Given the description of an element on the screen output the (x, y) to click on. 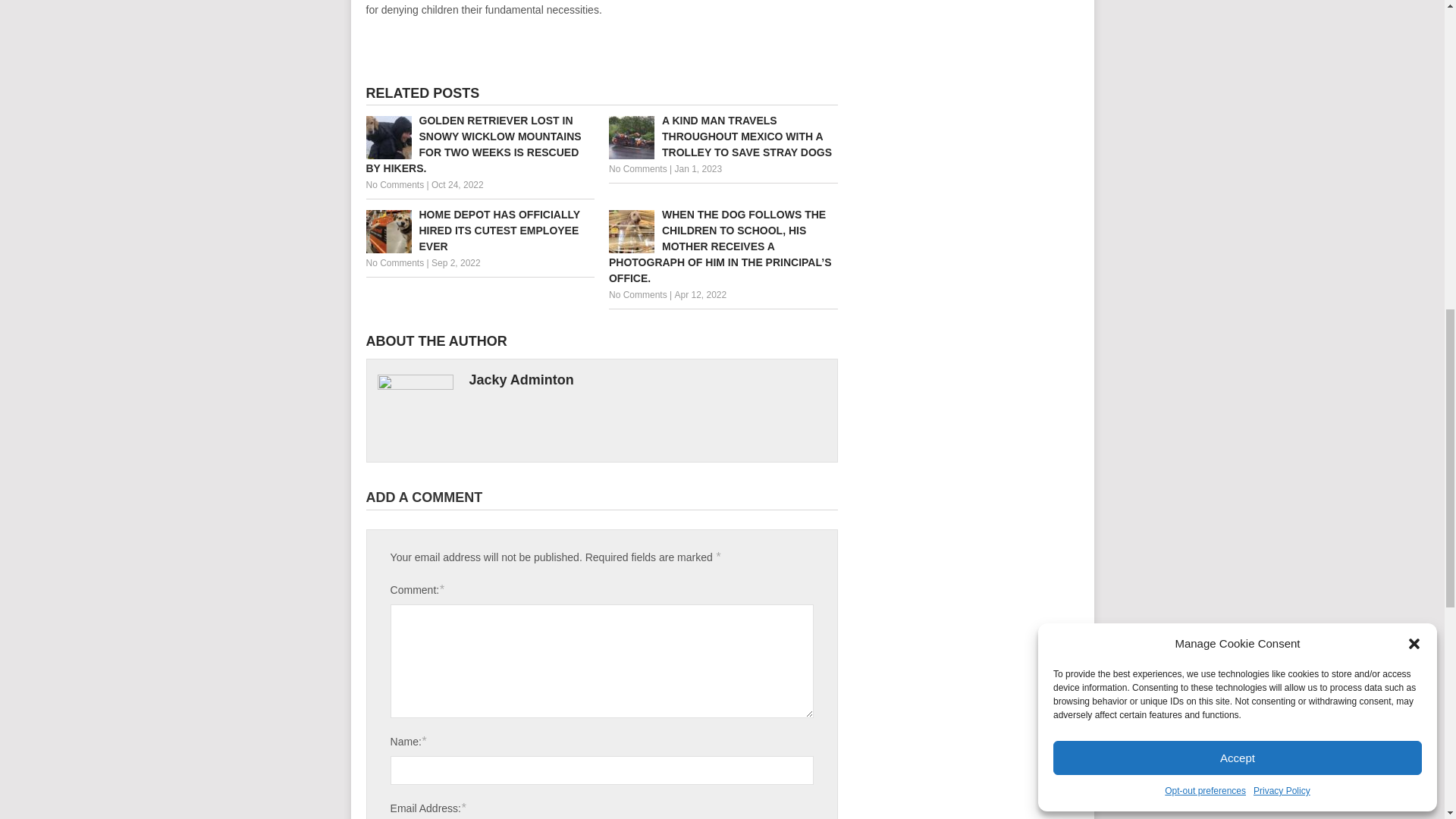
No Comments (394, 184)
HOME DEPOT HAS OFFICIALLY HIRED ITS CUTEST EMPLOYEE EVER (479, 230)
No Comments (637, 168)
HOME DEPOT HAS OFFICIALLY HIRED ITS CUTEST EMPLOYEE EVER (479, 230)
No Comments (394, 262)
No Comments (637, 294)
